Given the description of an element on the screen output the (x, y) to click on. 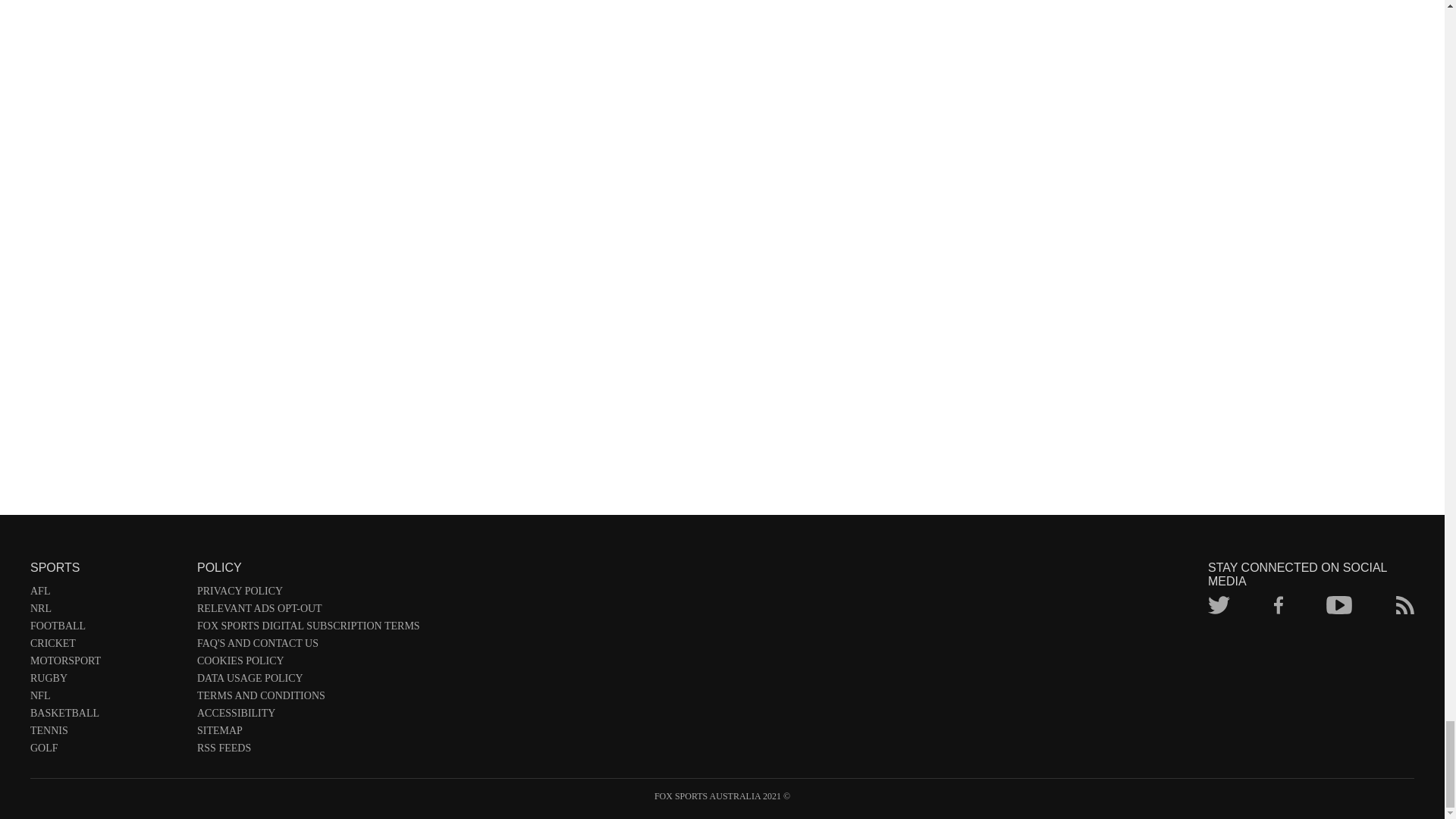
TERMS AND CONDITIONS (308, 698)
AFL (106, 593)
FOX SPORTS DIGITAL SUBSCRIPTION TERMS (308, 628)
FAQ'S AND CONTACT US (308, 646)
RUGBY (106, 681)
MOTORSPORT (106, 663)
NFL (106, 698)
SITEMAP (308, 733)
TENNIS (106, 733)
BASKETBALL (106, 715)
FOOTBALL (106, 628)
ACCESSIBILITY (308, 715)
RSS FEEDS (308, 751)
CRICKET (106, 646)
COOKIES POLICY (308, 663)
